Given the description of an element on the screen output the (x, y) to click on. 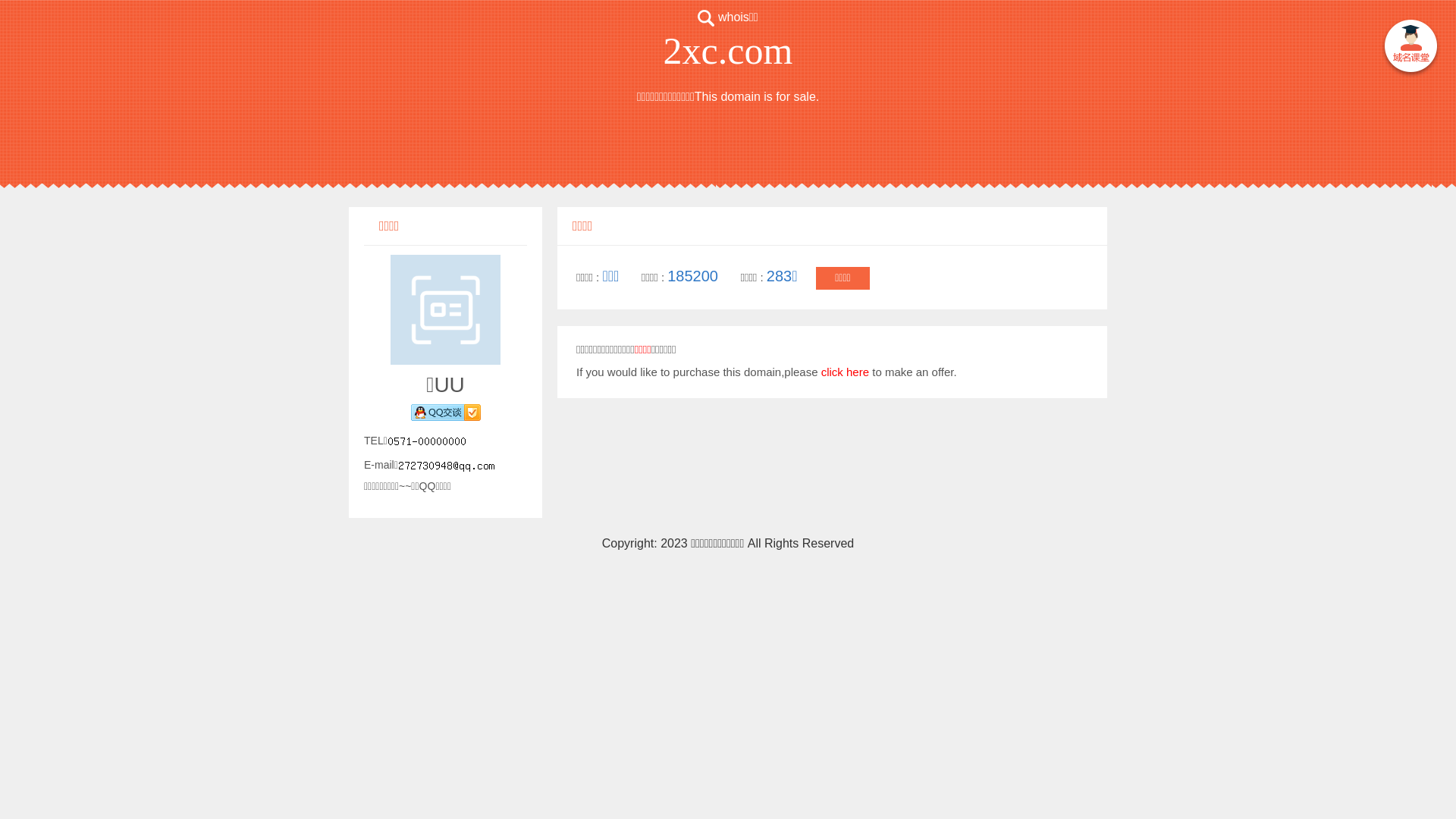
click here Element type: text (845, 371)
  Element type: text (1410, 48)
